Given the description of an element on the screen output the (x, y) to click on. 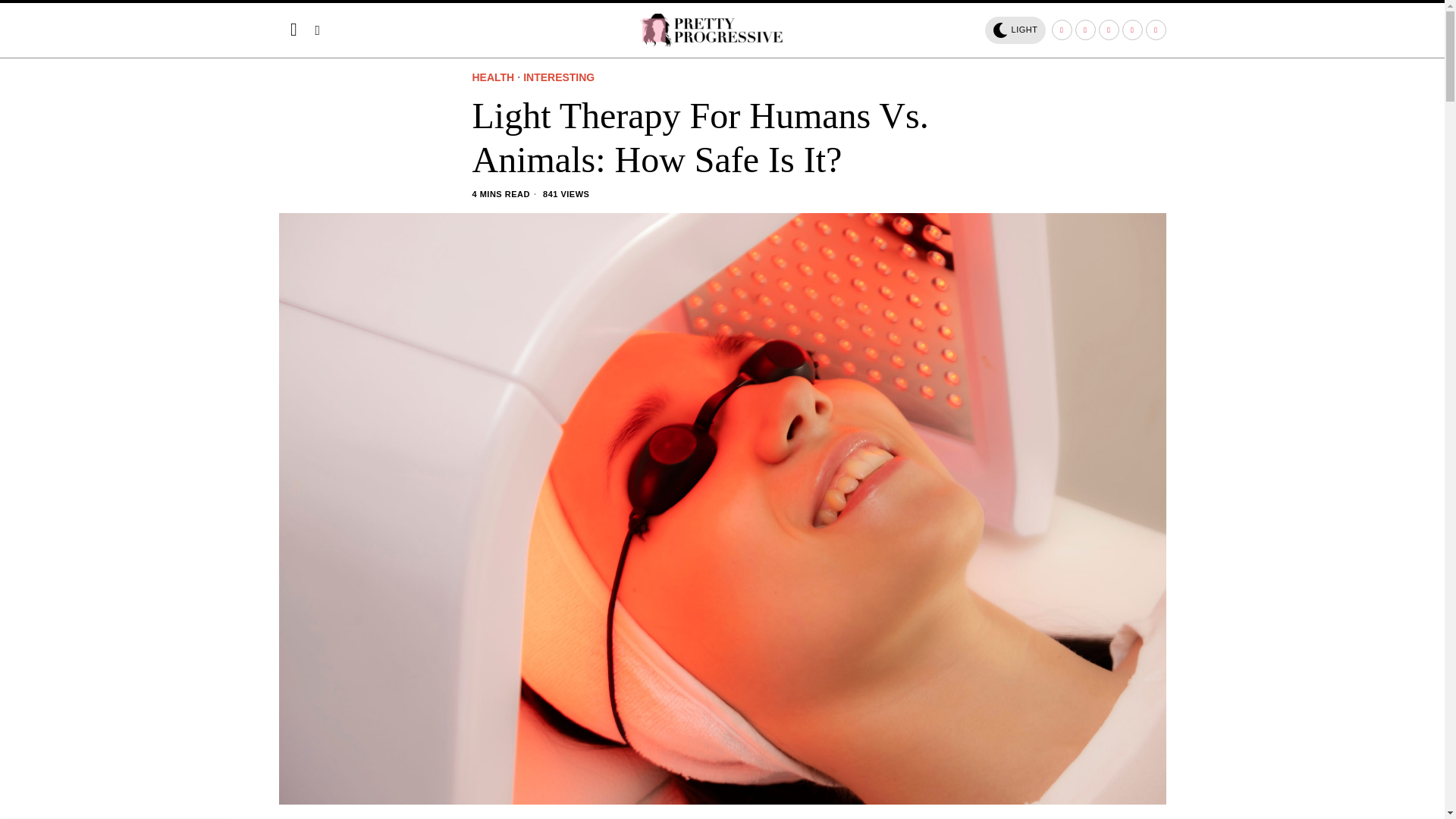
HEALTH (492, 78)
INTERESTING (558, 78)
